Given the description of an element on the screen output the (x, y) to click on. 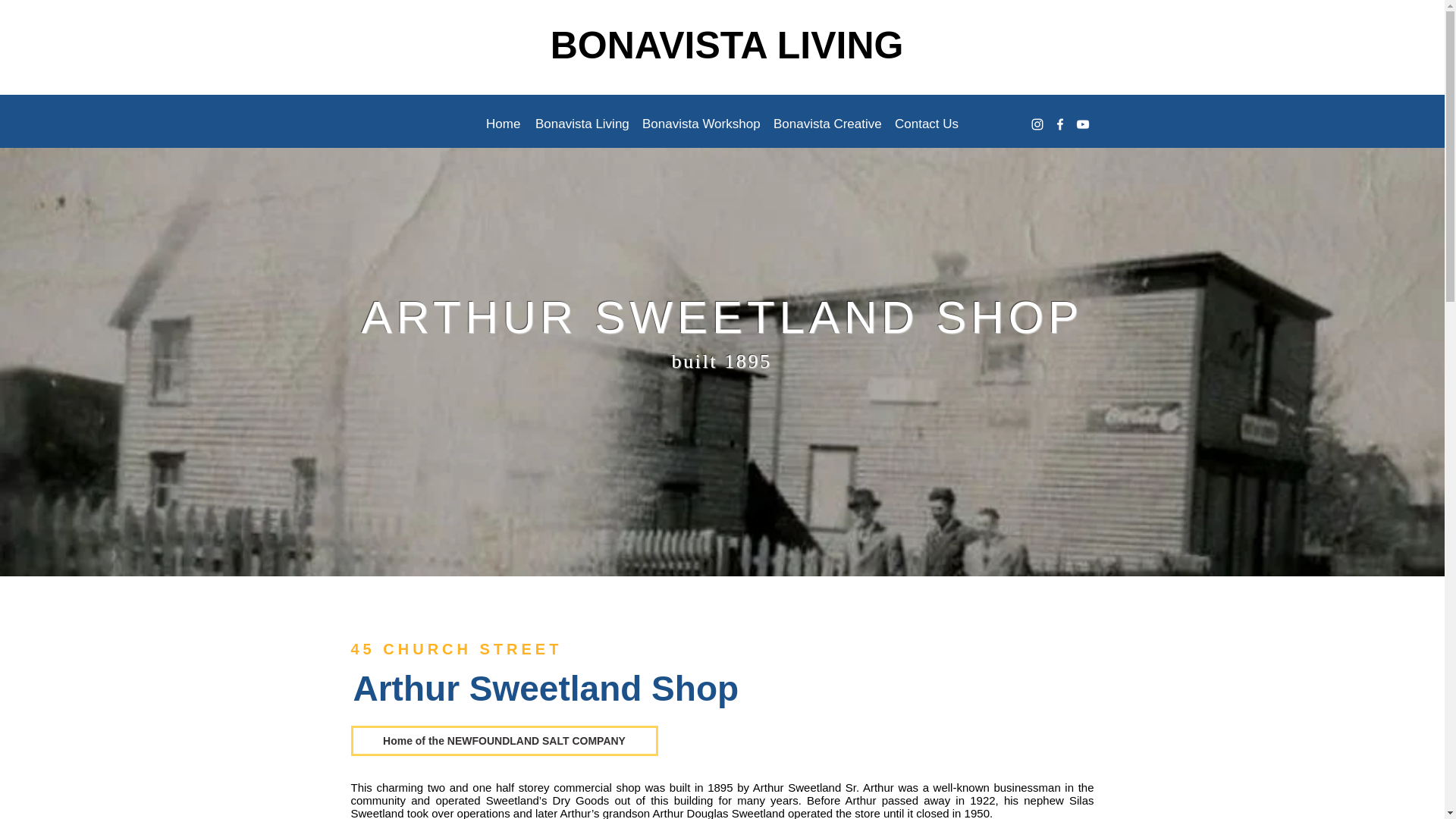
BONAVISTA LIVING (727, 45)
Bonavista Workshop (699, 124)
Contact Us (925, 124)
Bonavista Living (580, 124)
Home (503, 124)
Home of the NEWFOUNDLAND SALT COMPANY (504, 740)
Bonavista Creative (825, 124)
